Given the description of an element on the screen output the (x, y) to click on. 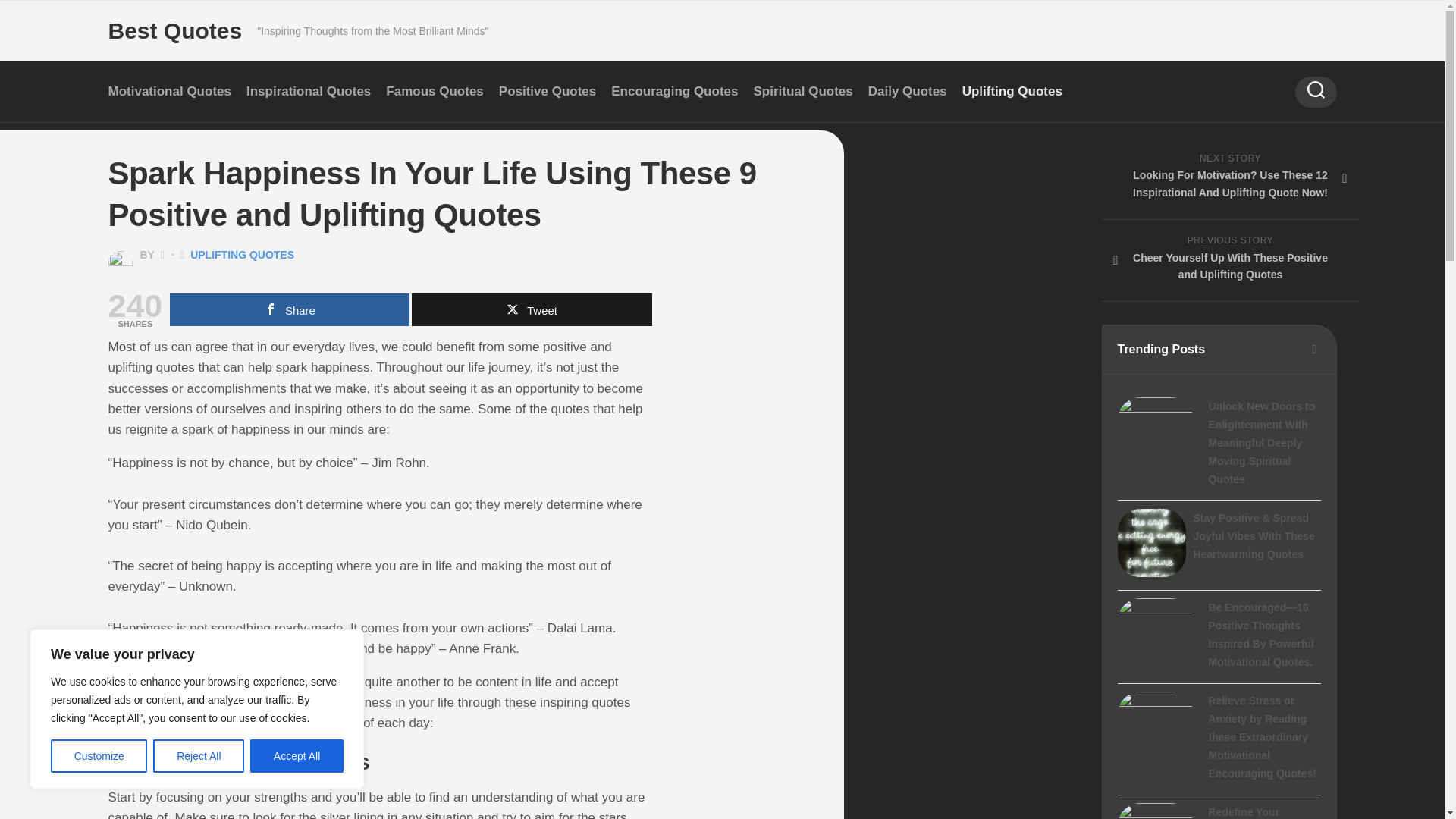
UPLIFTING QUOTES (242, 254)
Accept All (296, 756)
Inspirational Quotes (308, 91)
Motivational Quotes (168, 91)
Positive Quotes (547, 91)
Encouraging Quotes (674, 91)
Reject All (198, 756)
Share (289, 309)
Best Quotes (174, 30)
Uplifting Quotes (1012, 91)
Spiritual Quotes (801, 91)
Daily Quotes (907, 91)
Famous Quotes (434, 91)
Tweet (531, 309)
Customize (98, 756)
